Given the description of an element on the screen output the (x, y) to click on. 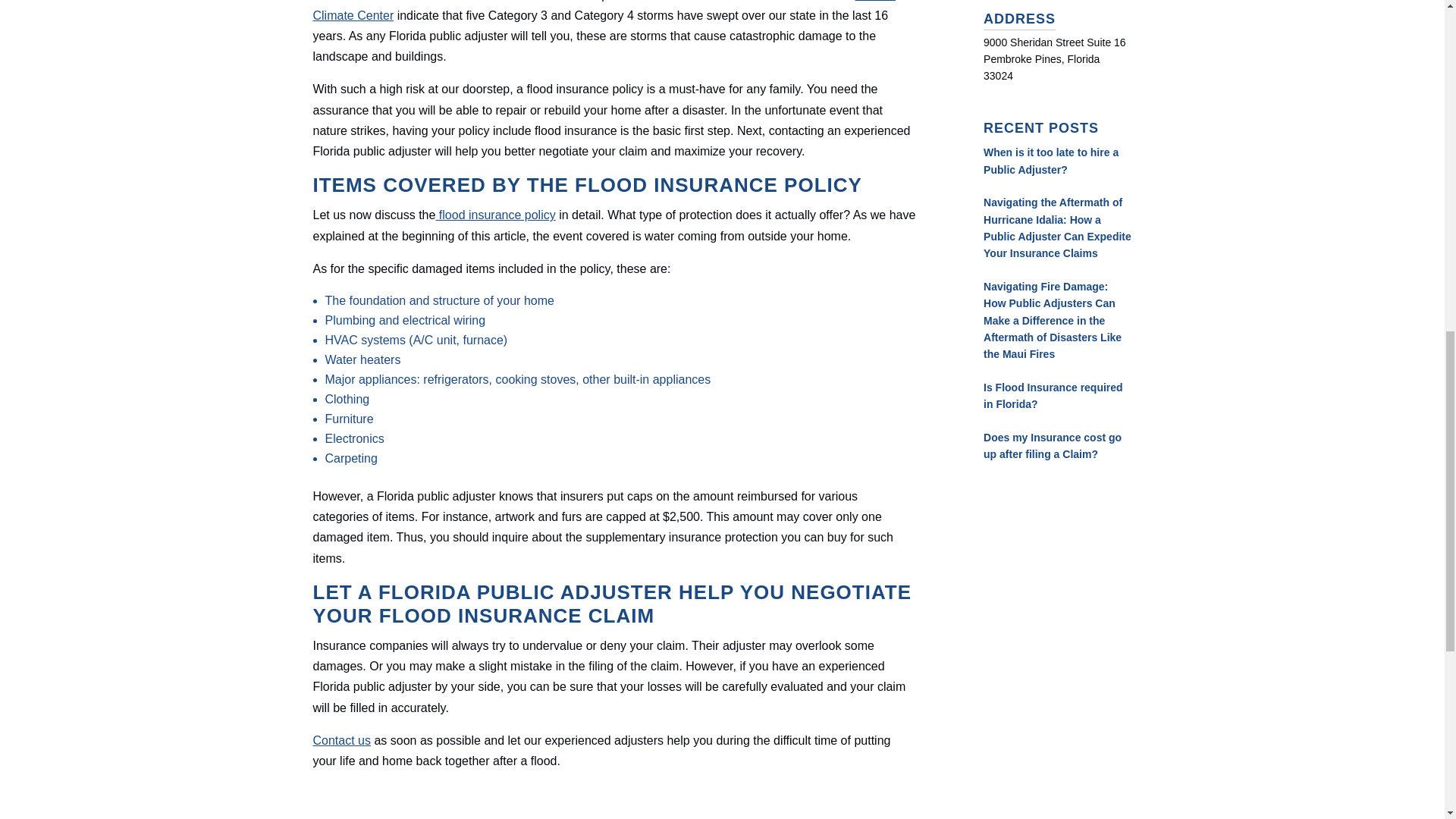
flood insurance policy (494, 214)
Florida Climate Center (604, 11)
Is Flood Insurance required in Florida? (1053, 395)
When is it too late to hire a Public Adjuster? (1051, 160)
Contact us (341, 739)
